Given the description of an element on the screen output the (x, y) to click on. 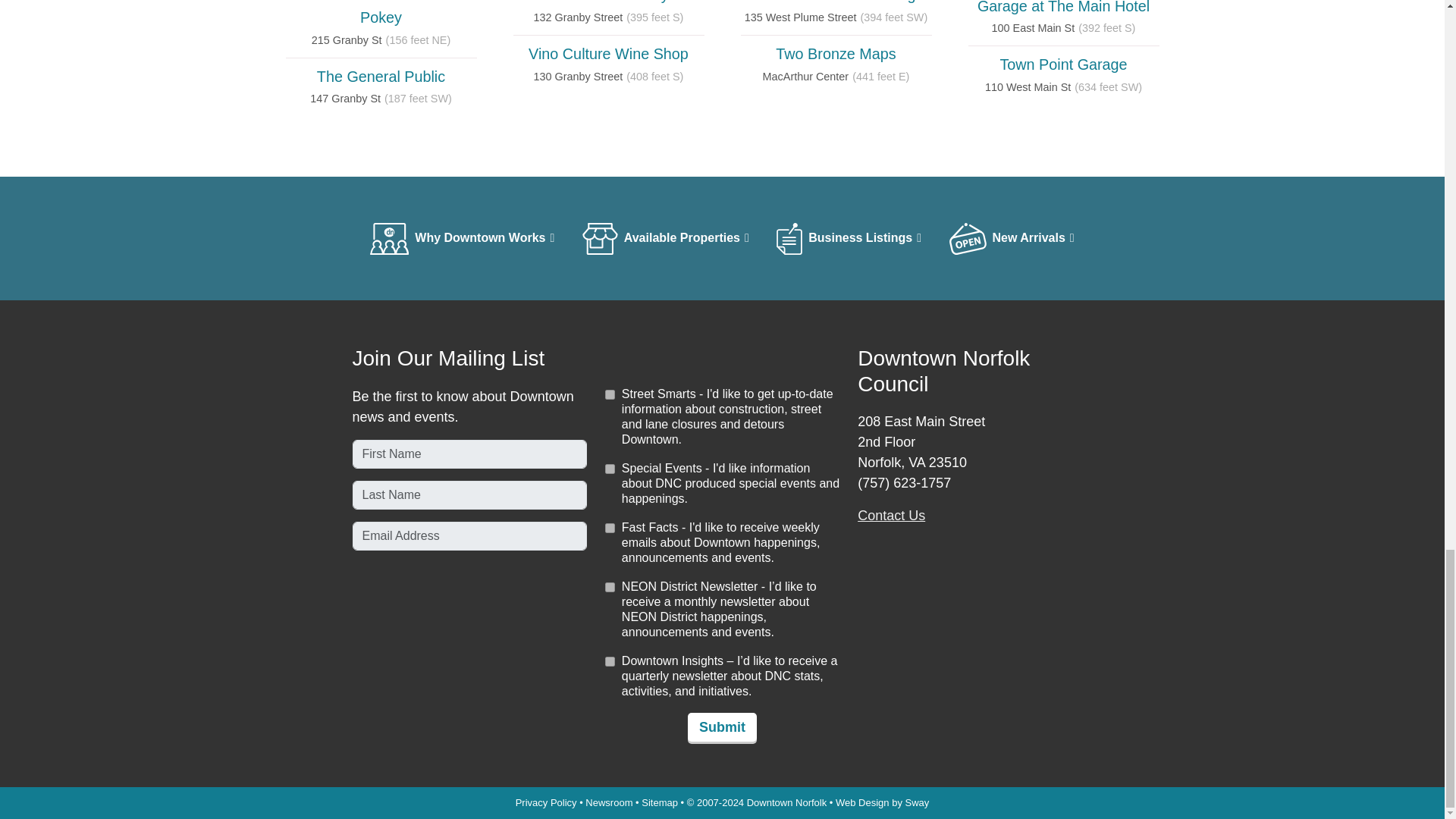
1 (609, 394)
Submit (722, 727)
1 (609, 587)
1 (609, 528)
1 (609, 469)
1 (609, 661)
